Given the description of an element on the screen output the (x, y) to click on. 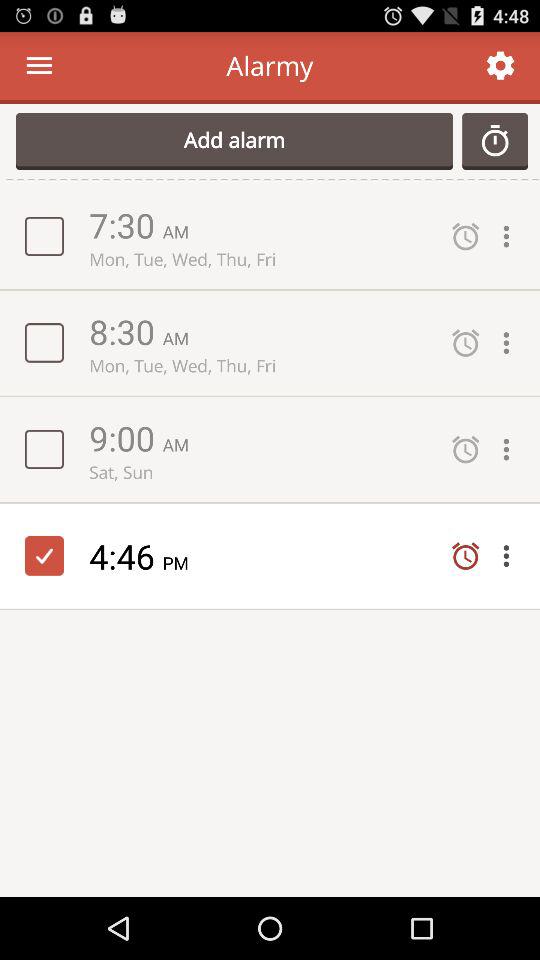
press the button next to the add alarm button (495, 141)
